Given the description of an element on the screen output the (x, y) to click on. 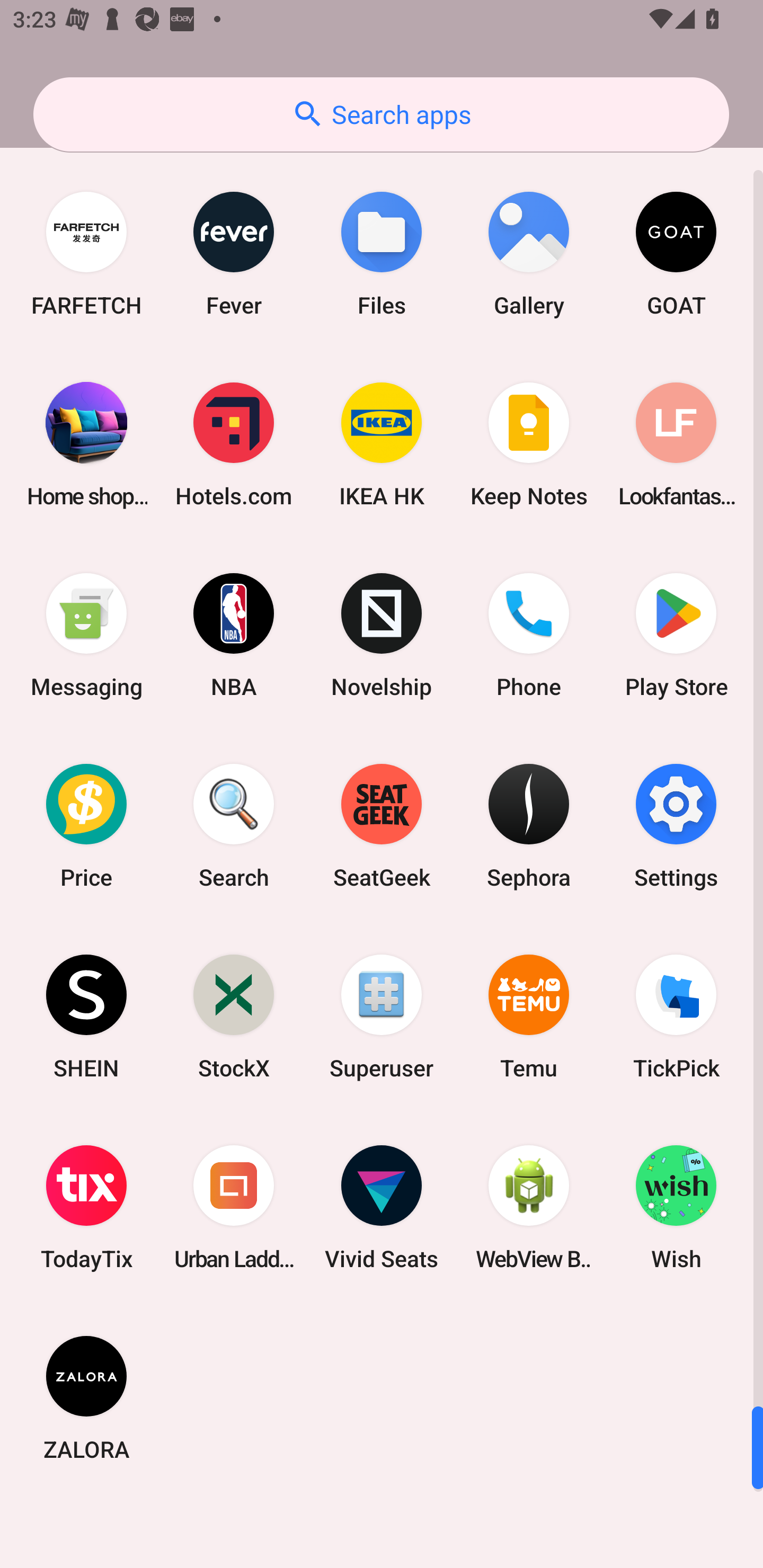
  Search apps (381, 114)
FARFETCH (86, 253)
Fever (233, 253)
Files (381, 253)
Gallery (528, 253)
GOAT (676, 253)
Home shopping (86, 444)
Hotels.com (233, 444)
IKEA HK (381, 444)
Keep Notes (528, 444)
Lookfantastic (676, 444)
Messaging (86, 634)
NBA (233, 634)
Novelship (381, 634)
Phone (528, 634)
Play Store (676, 634)
Price (86, 825)
Search (233, 825)
SeatGeek (381, 825)
Sephora (528, 825)
Settings (676, 825)
SHEIN (86, 1016)
StockX (233, 1016)
Superuser (381, 1016)
Temu (528, 1016)
TickPick (676, 1016)
TodayTix (86, 1207)
Urban Ladder (233, 1207)
Vivid Seats (381, 1207)
WebView Browser Tester (528, 1207)
Wish (676, 1207)
ZALORA (86, 1397)
